Given the description of an element on the screen output the (x, y) to click on. 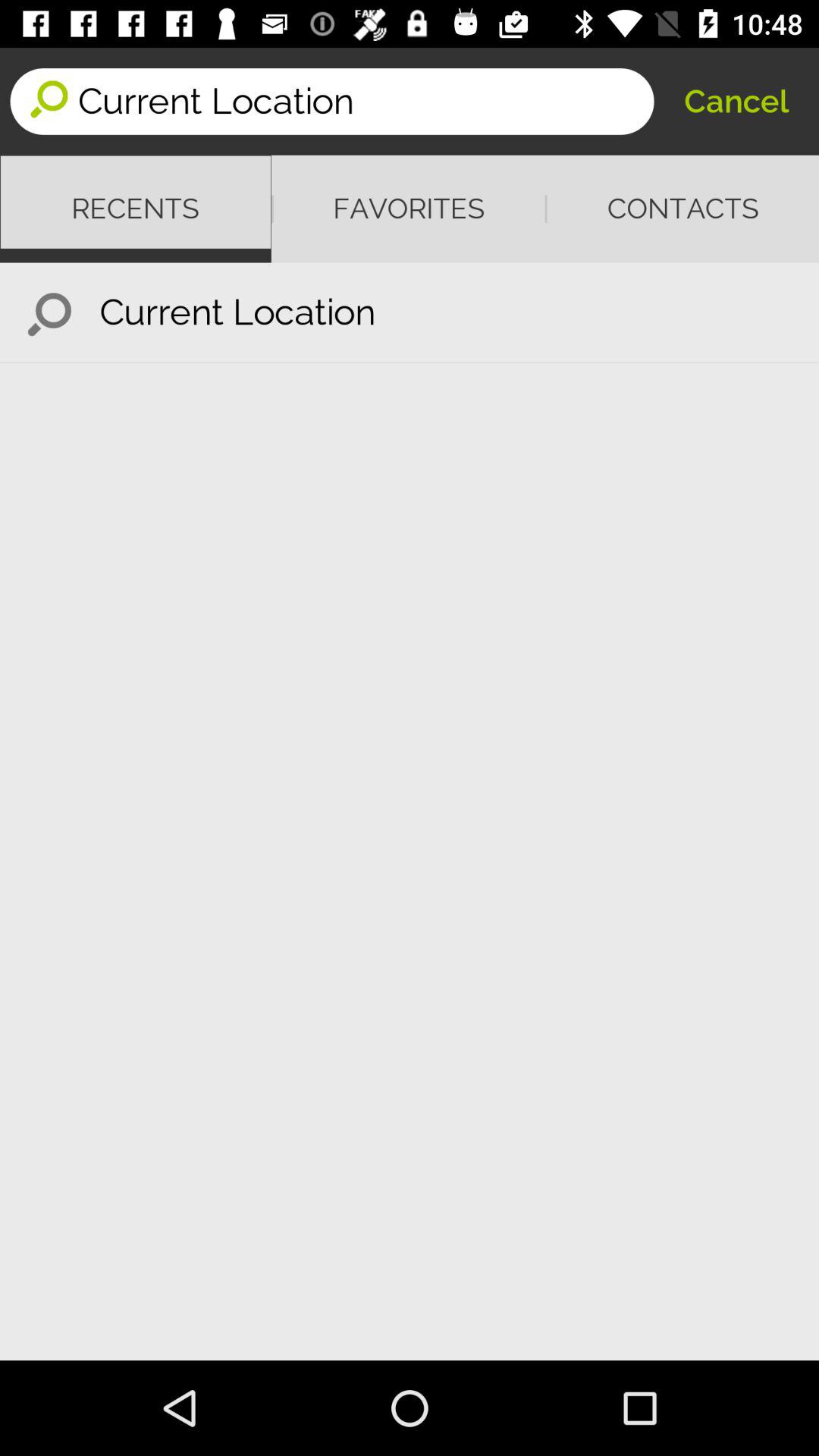
flip until the q icon (49, 312)
